Given the description of an element on the screen output the (x, y) to click on. 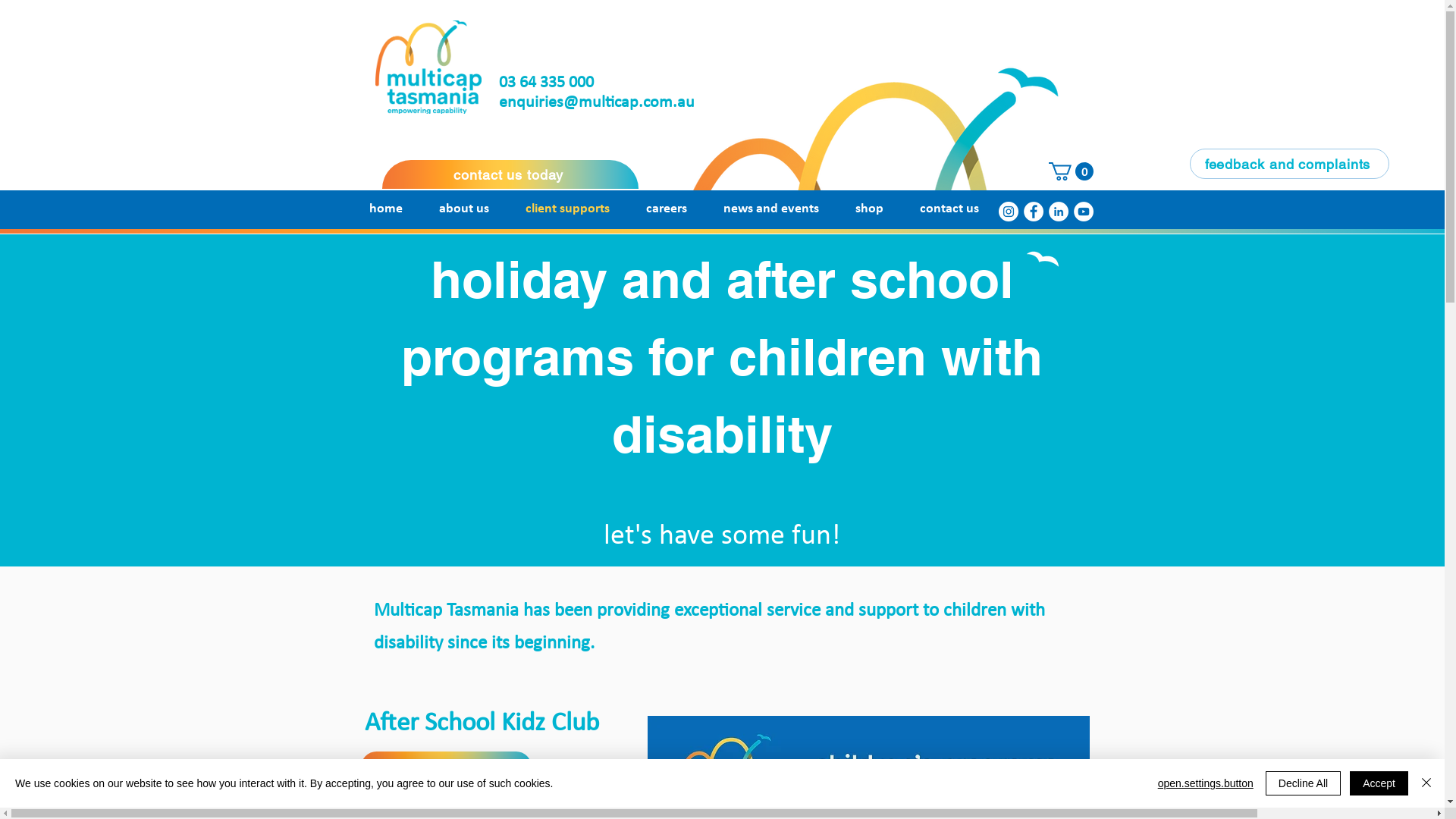
contact us today Element type: text (510, 174)
0 Element type: text (1070, 171)
client supports Element type: text (566, 209)
feedback and complaints Element type: text (1288, 163)
home Element type: text (385, 209)
Accept Element type: text (1378, 783)
shop Element type: text (869, 209)
careers Element type: text (666, 209)
news and events Element type: text (771, 209)
about us Element type: text (463, 209)
express your interest Element type: text (445, 766)
Decline All Element type: text (1302, 783)
contact us Element type: text (948, 209)
